Given the description of an element on the screen output the (x, y) to click on. 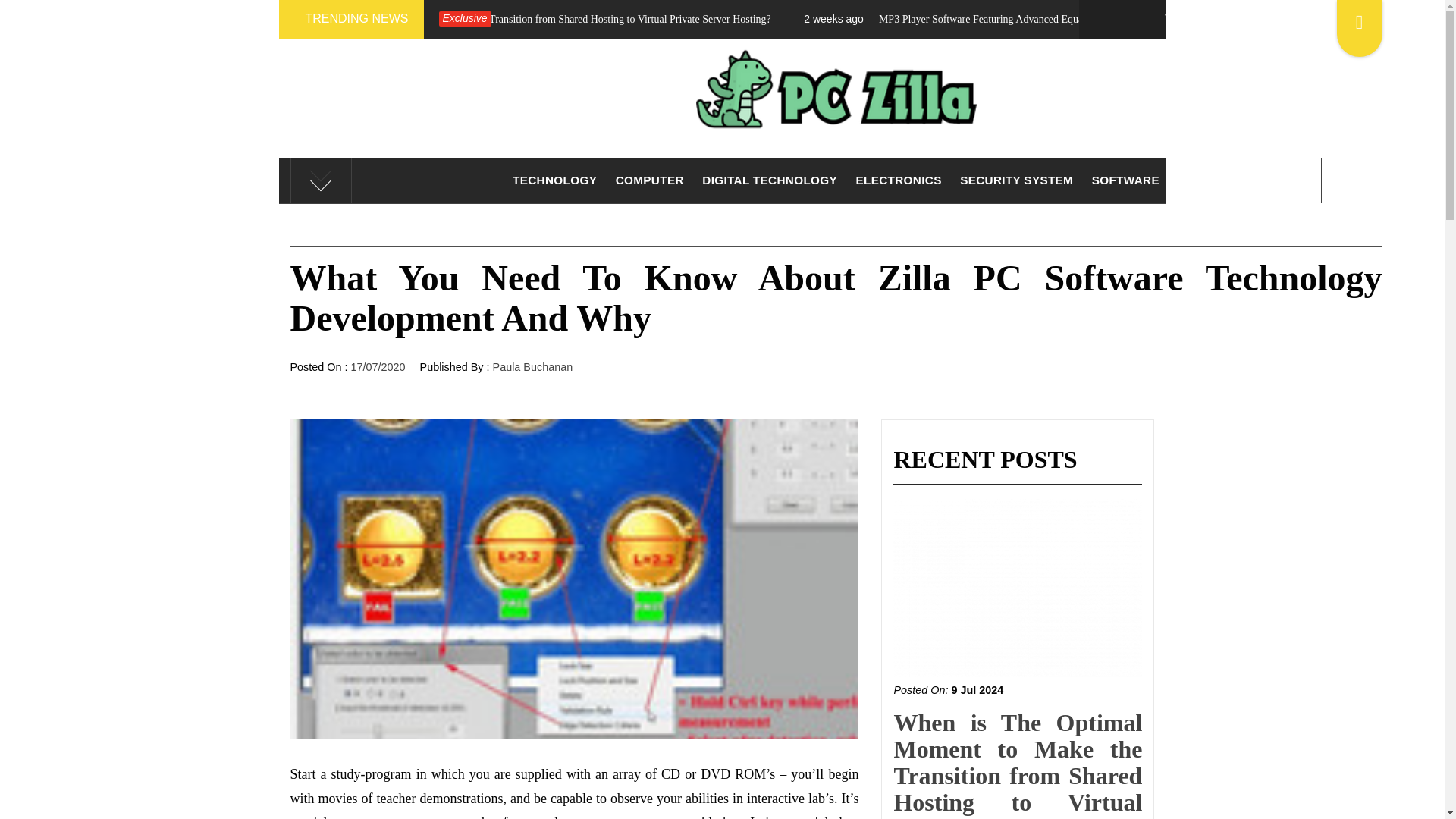
COMPUTER (649, 180)
PC ZILLA (835, 175)
TECHNOLOGY (554, 180)
